Given the description of an element on the screen output the (x, y) to click on. 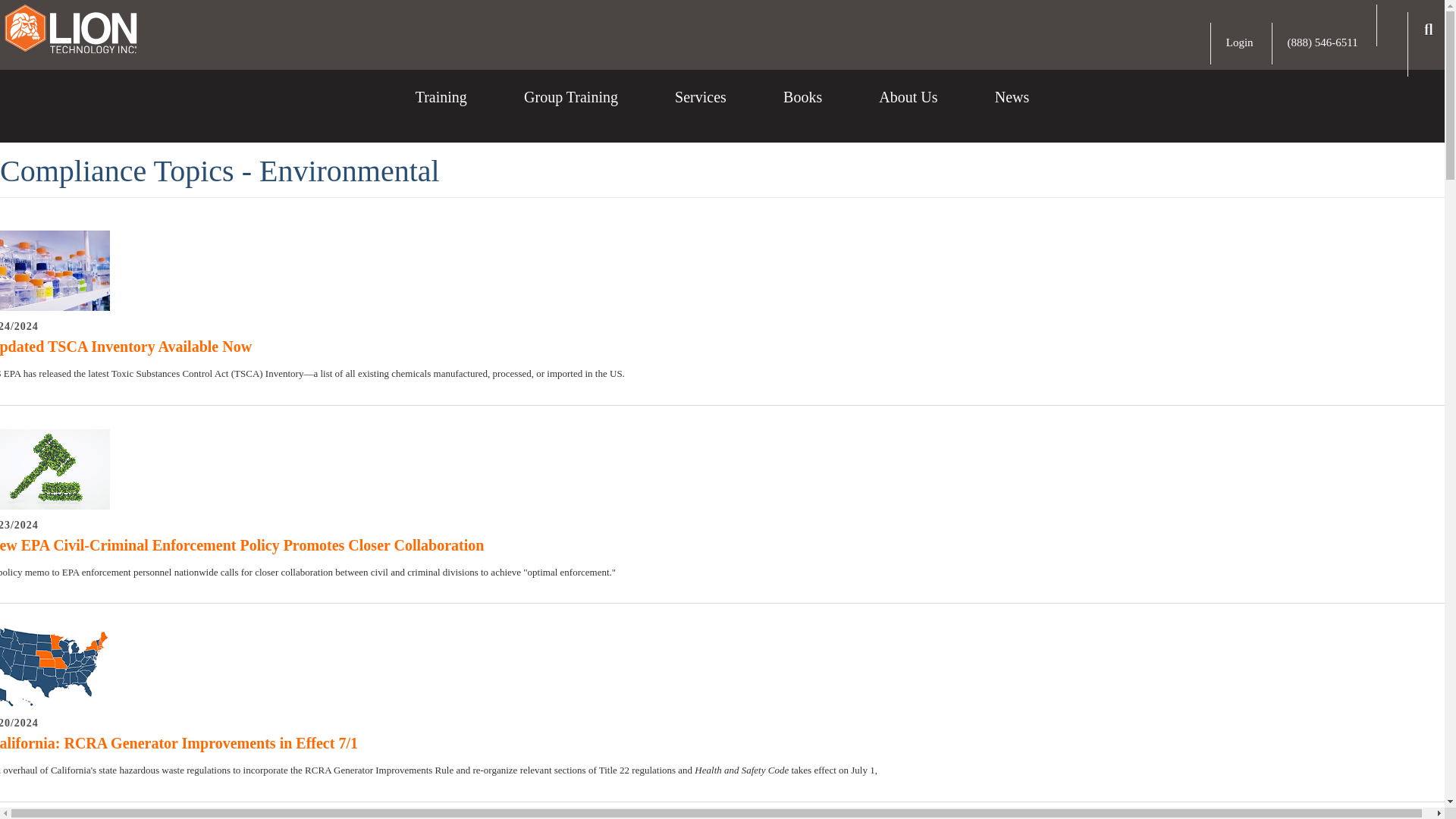
Group Training (570, 109)
Books (802, 109)
About Us (908, 109)
Services (700, 109)
Training (440, 109)
Login (1239, 42)
